Given the description of an element on the screen output the (x, y) to click on. 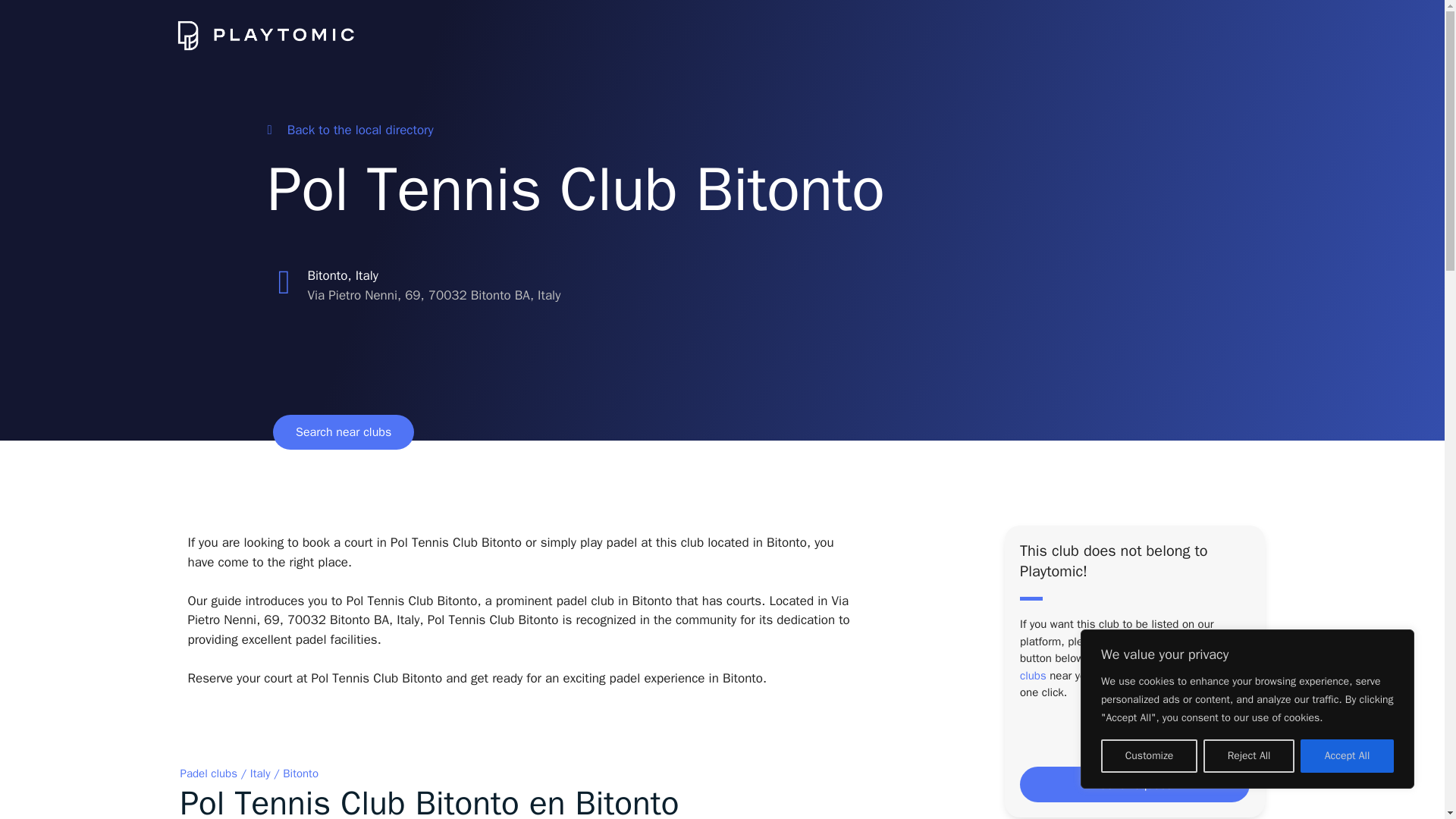
Reject All (1249, 756)
Search near clubs (343, 431)
Italy (260, 773)
Customize (1148, 756)
Padel clubs (208, 773)
Back to the local directory (349, 130)
Accept All (1346, 756)
search for other clubs (1128, 666)
Bitonto (300, 773)
Send request (1134, 784)
